Given the description of an element on the screen output the (x, y) to click on. 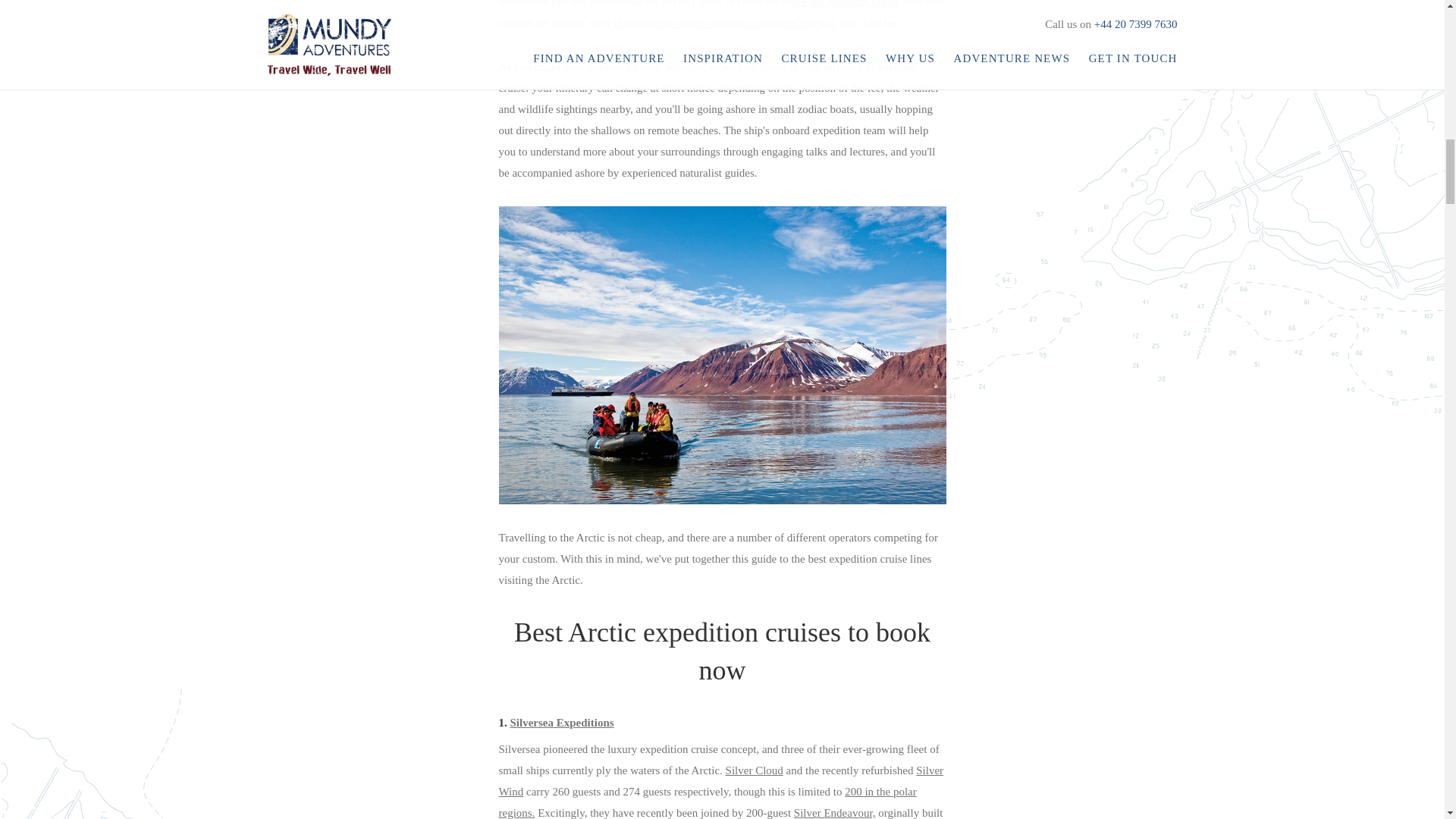
Silver Endeavour, (834, 812)
Silver Wind (721, 780)
200 in the polar regions. (708, 802)
Hurtigruten's winter voyages to northern Norway (724, 22)
Silver Cloud (754, 770)
see the Northern Lights (845, 3)
Silversea Expeditions (560, 722)
